Given the description of an element on the screen output the (x, y) to click on. 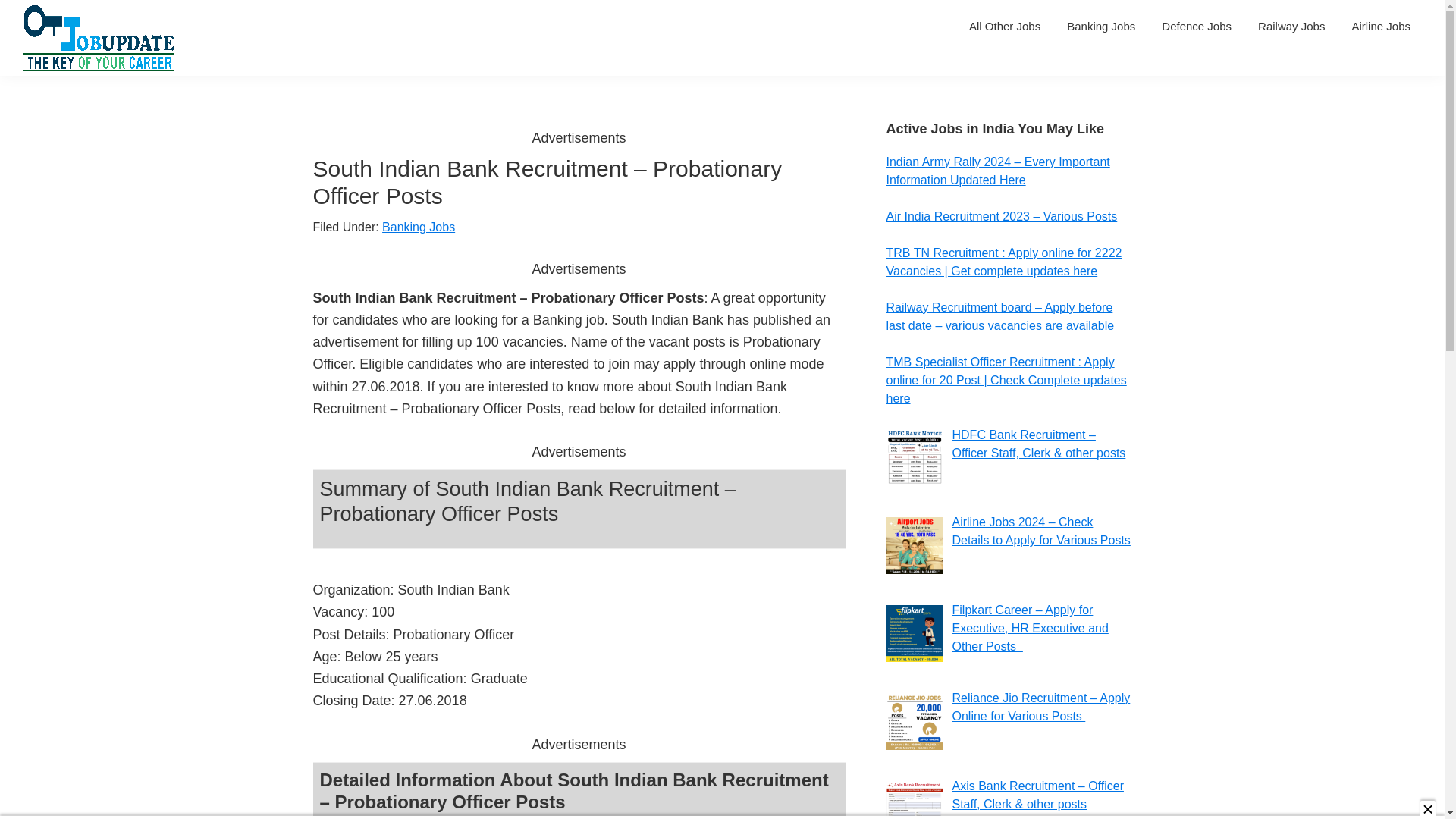
Railway Jobs (1291, 25)
Banking Jobs (417, 226)
Banking Jobs (1101, 25)
Defence Jobs (1196, 25)
Airline Jobs (1380, 25)
All Other Jobs (1004, 25)
